Given the description of an element on the screen output the (x, y) to click on. 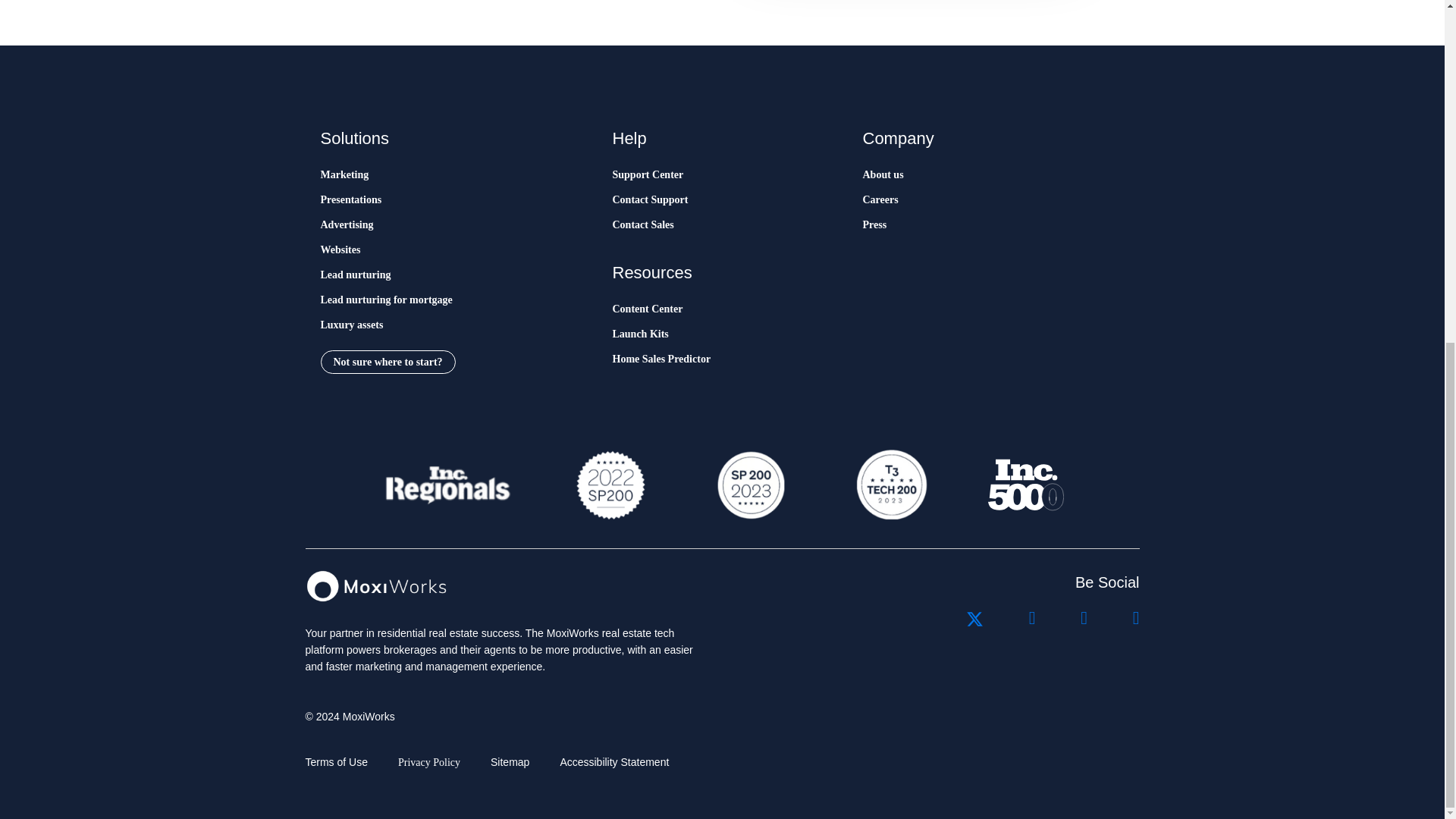
T3 tech 200 2023 (890, 484)
SP 2023 (749, 484)
SP 2022 (610, 484)
